Given the description of an element on the screen output the (x, y) to click on. 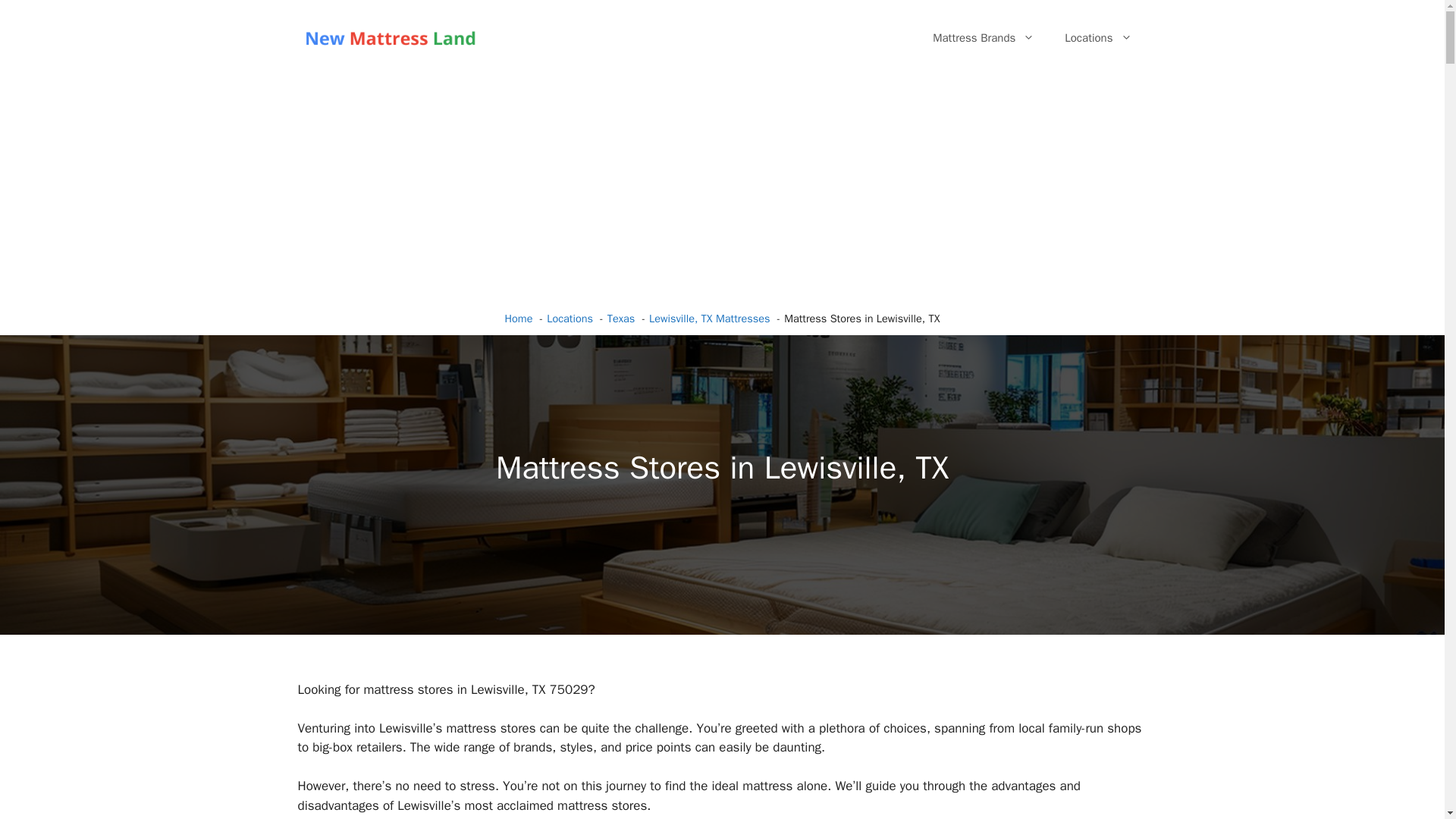
Home (518, 318)
Mattress Brands (983, 37)
Lewisville, TX Mattresses (709, 318)
Texas (620, 318)
Locations (569, 318)
Locations (1098, 37)
